Given the description of an element on the screen output the (x, y) to click on. 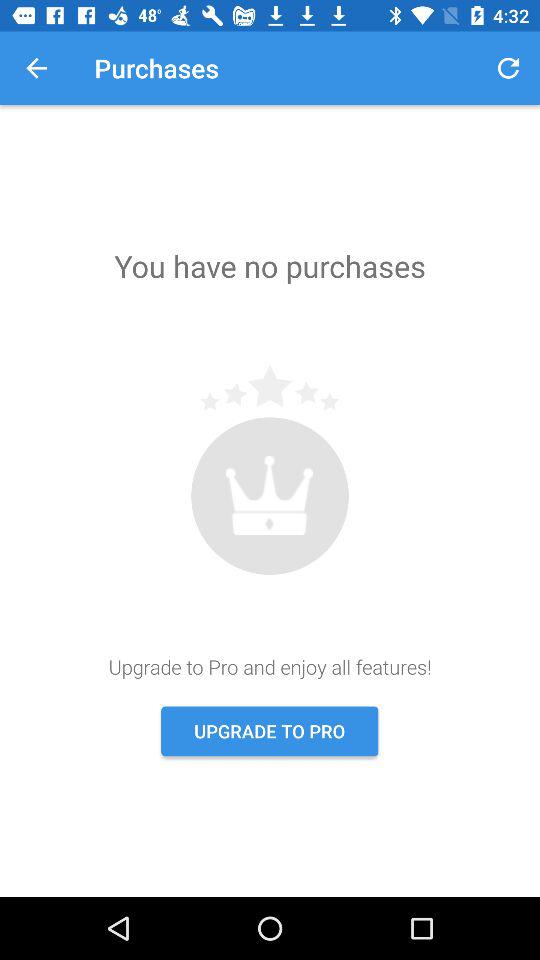
click item next to the purchases (508, 67)
